Given the description of an element on the screen output the (x, y) to click on. 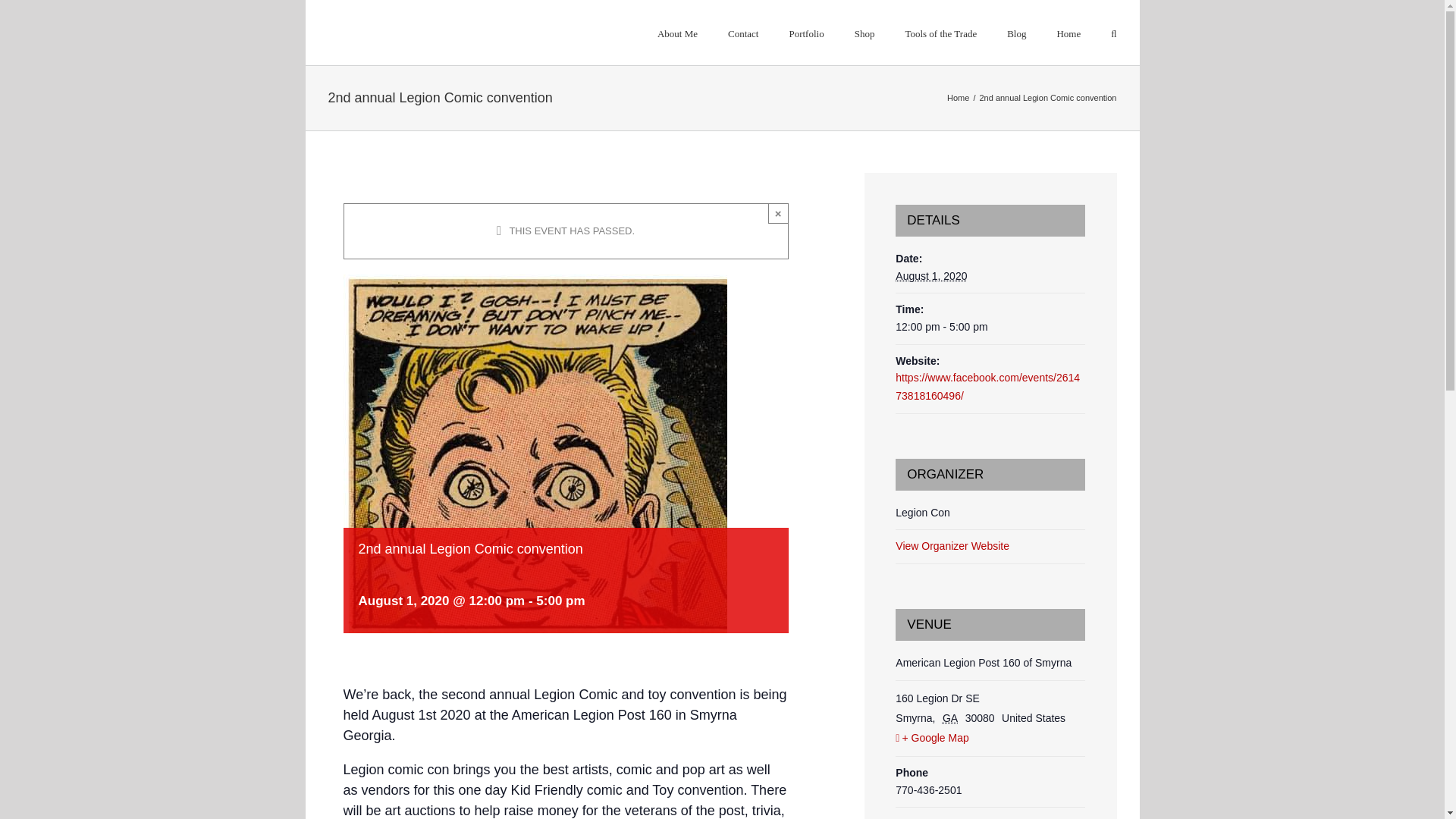
2020-08-01 (989, 327)
View Organizer Website (952, 545)
Home (958, 97)
View Venue Website (943, 818)
Tools of the Trade (940, 32)
2020-08-01 (930, 275)
